Given the description of an element on the screen output the (x, y) to click on. 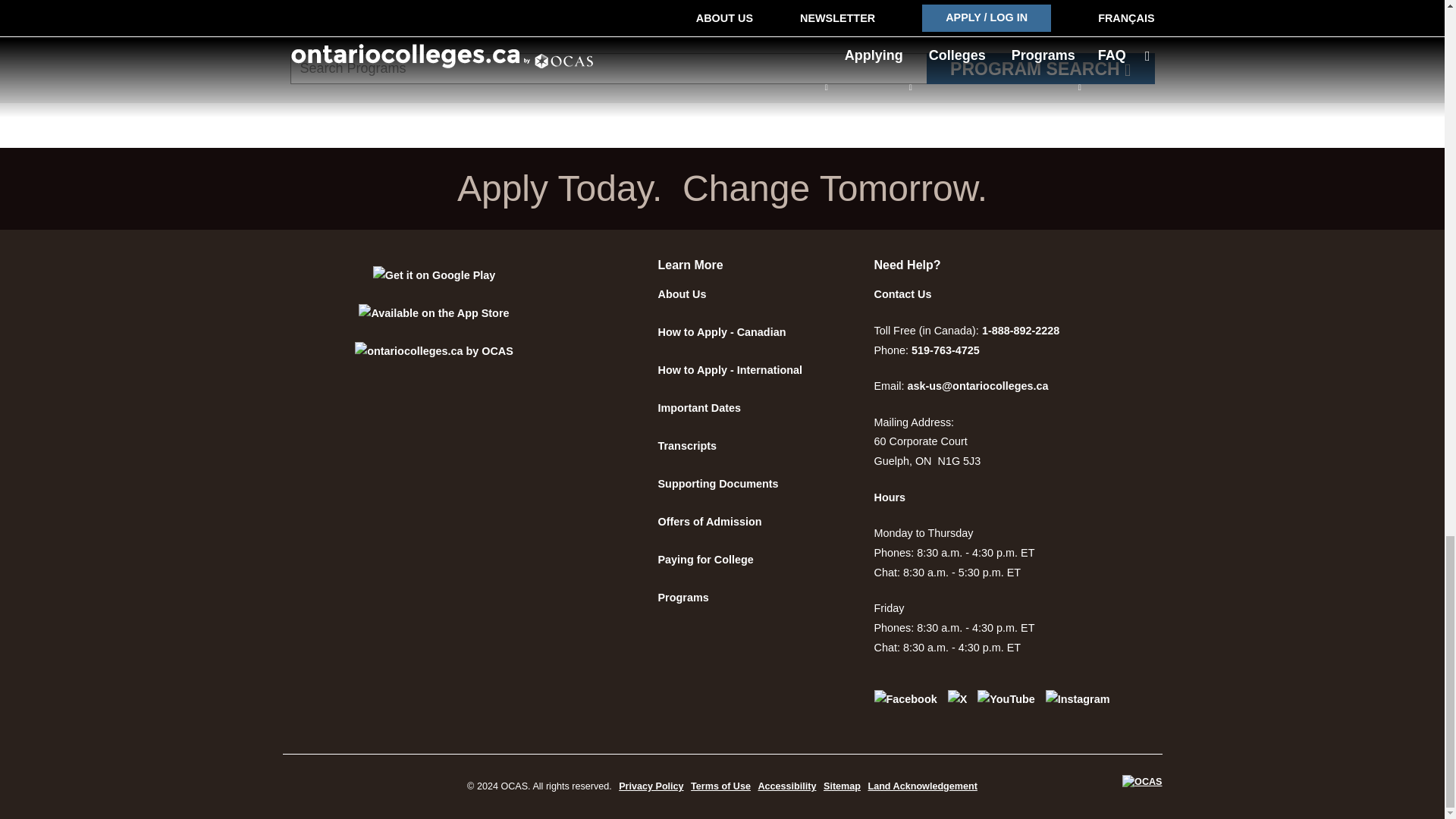
About Us (682, 294)
Applying to College as an International Applicant (730, 369)
Important Dates (699, 408)
How to Send Your Supporting Documents to Ontario Colleges (718, 483)
Offers of Admission (709, 521)
Transcripts (687, 445)
How to Apply (722, 331)
